Given the description of an element on the screen output the (x, y) to click on. 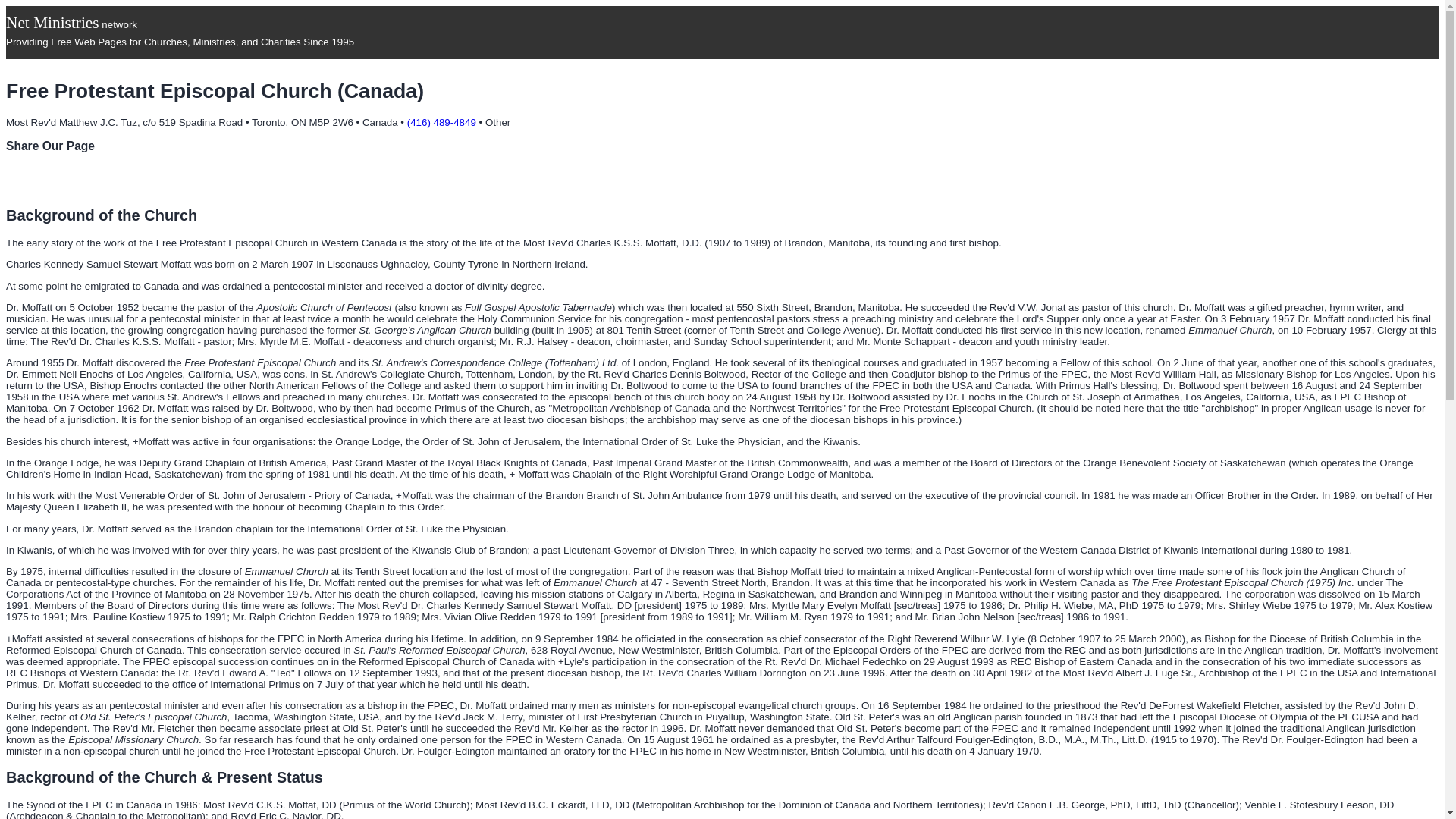
Net Ministries (52, 22)
Share this page on linkedin (100, 178)
Share this page on stumbleupon (237, 178)
Share this page on facebook (19, 178)
Share this page on digg (265, 178)
Share this page on in1 (183, 178)
Share this page on email (210, 178)
Share this page on googleplus (73, 178)
Share this page on pinterest (128, 178)
